Given the description of an element on the screen output the (x, y) to click on. 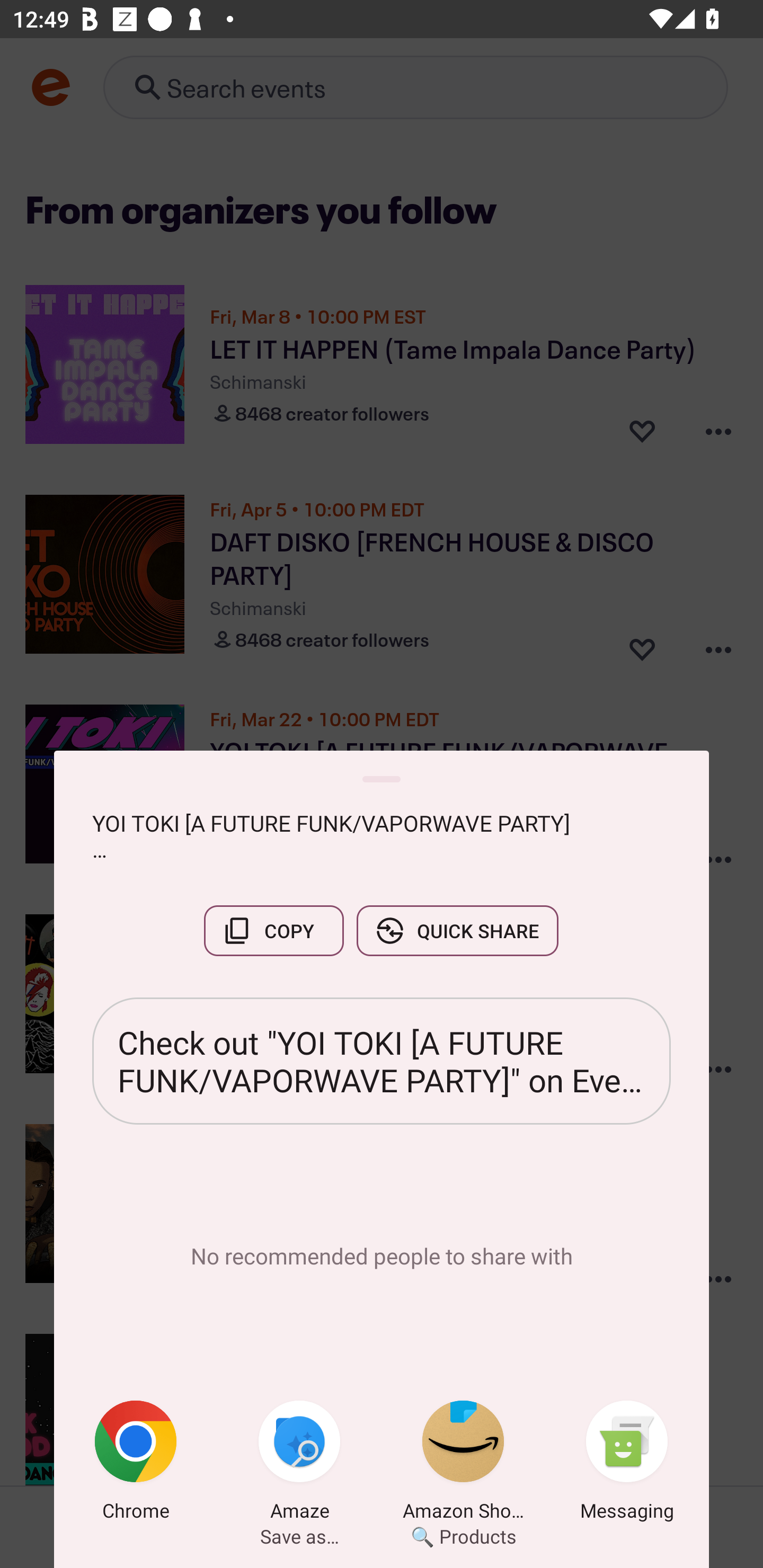
COPY (273, 930)
QUICK SHARE (457, 930)
Chrome (135, 1463)
Amaze Save as… (299, 1463)
Amazon Shopping 🔍 Products (463, 1463)
Messaging (626, 1463)
